Given the description of an element on the screen output the (x, y) to click on. 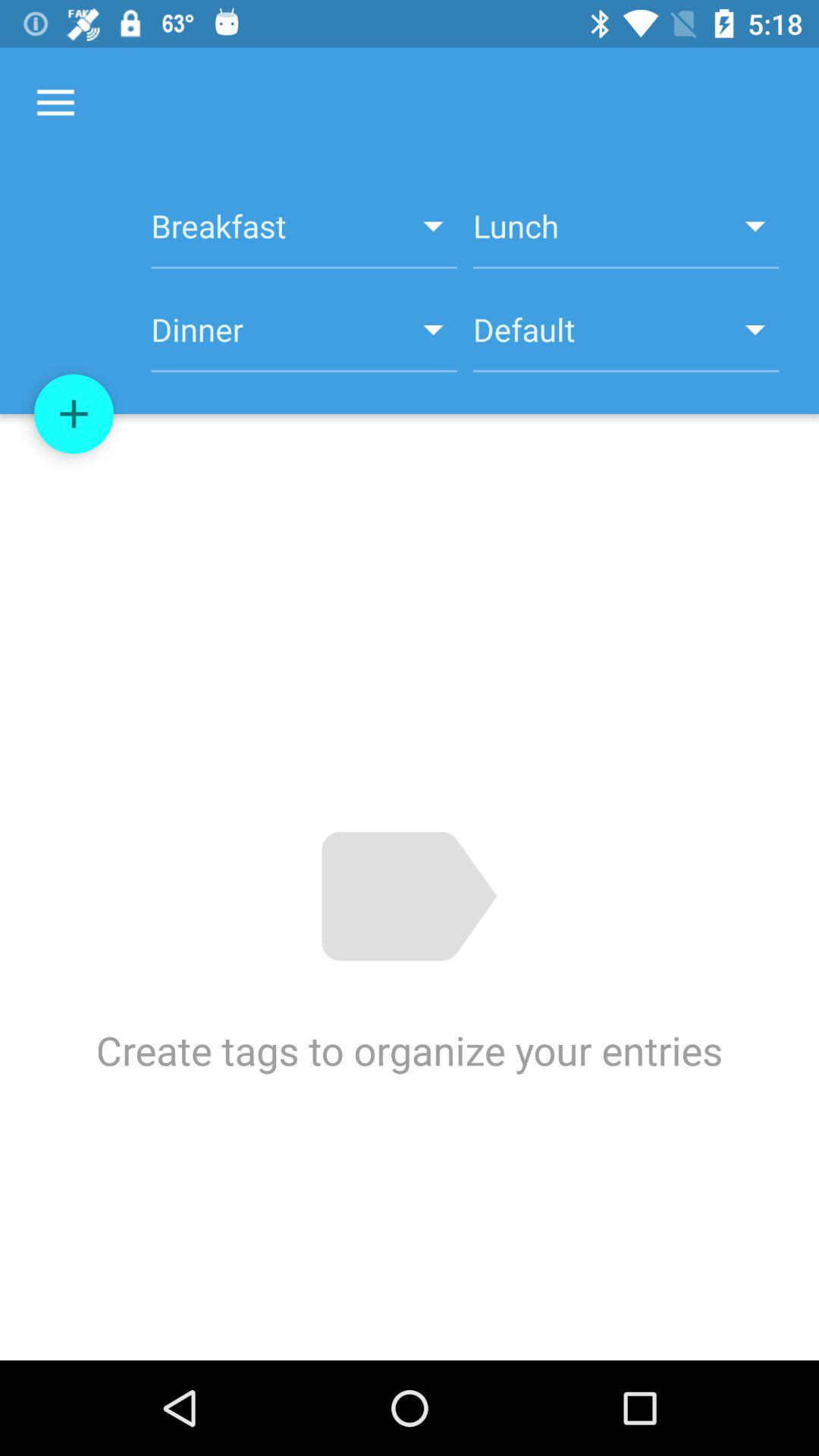
turn on the item above create tags to (73, 413)
